Given the description of an element on the screen output the (x, y) to click on. 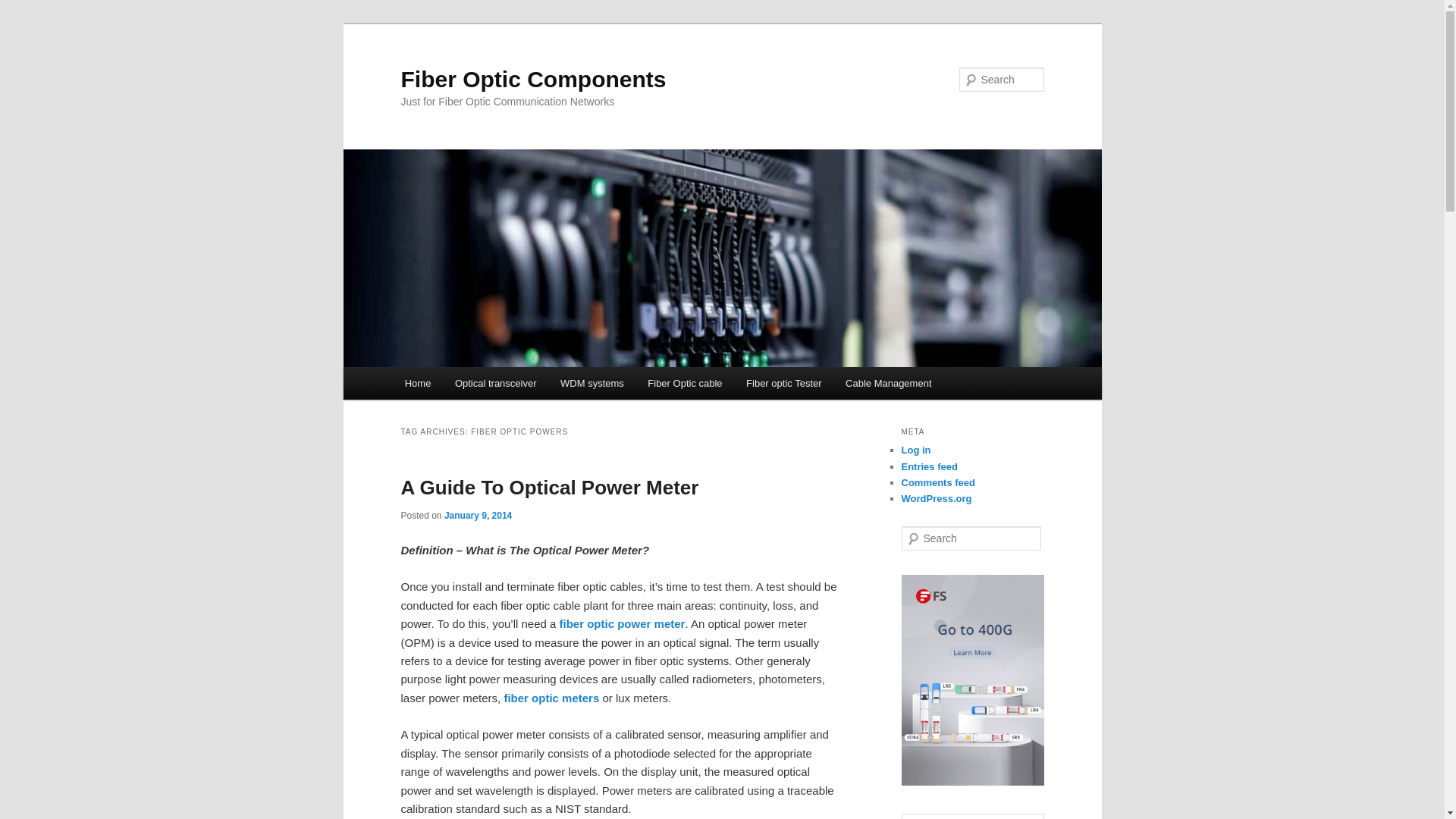
Cable Management (887, 382)
fiber optic meters (550, 697)
Home (417, 382)
Entries feed (928, 466)
Optical transceiver (495, 382)
3:56 am (478, 515)
Comments feed (938, 482)
Fiber Optic cable (685, 382)
Fiber Optic Components (532, 78)
